Given the description of an element on the screen output the (x, y) to click on. 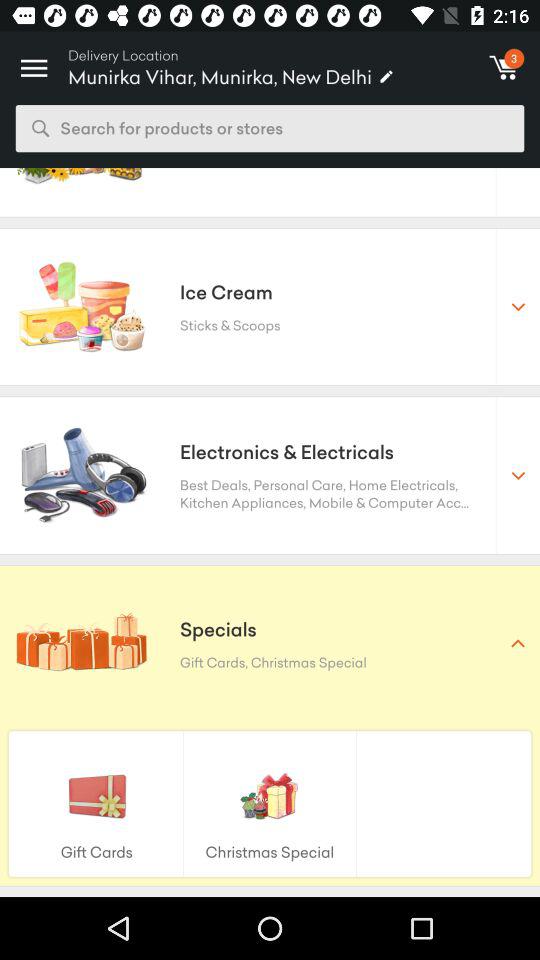
launch icon to the left of delivery location (33, 62)
